Given the description of an element on the screen output the (x, y) to click on. 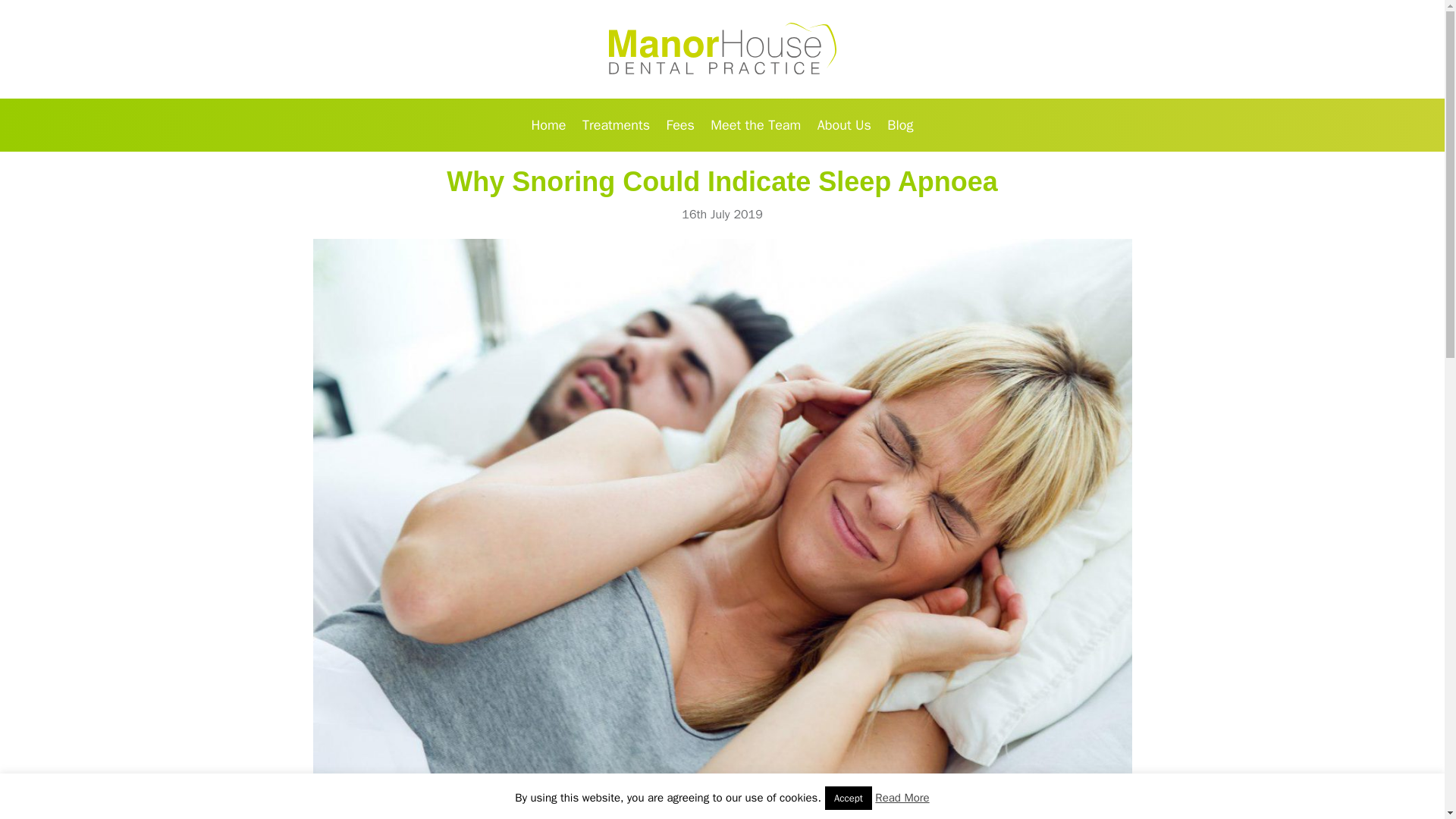
Homepage (721, 49)
Accept (848, 797)
Meet the Team (755, 124)
Read More (901, 797)
About Us (843, 124)
Treatments (616, 124)
